Given the description of an element on the screen output the (x, y) to click on. 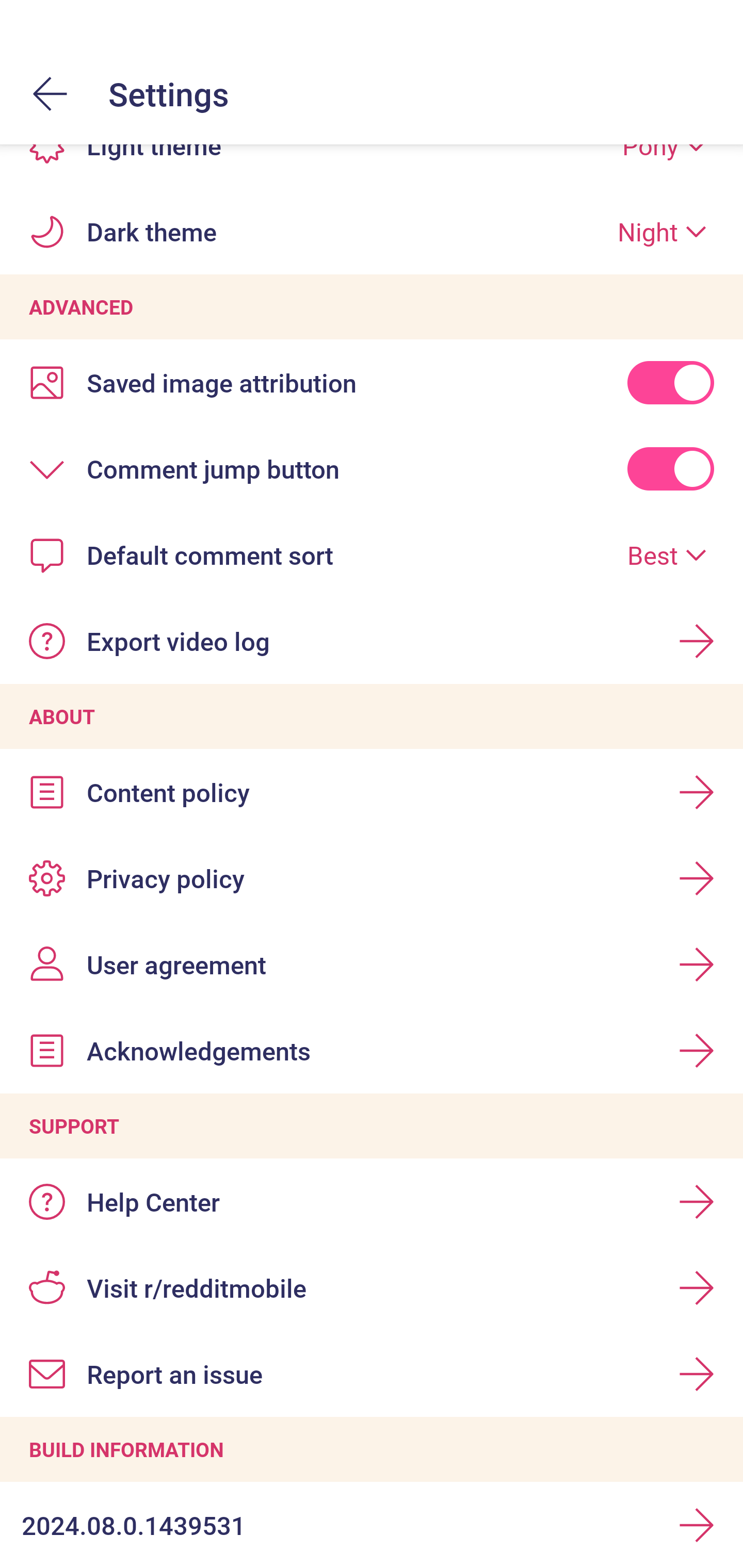
Navigate up (50, 93)
Dark theme Night (371, 231)
Saved image attribution (371, 382)
Comment jump button (371, 468)
Default comment sort Best (371, 554)
Export video log (371, 641)
Content policy (371, 792)
Privacy policy (371, 878)
User agreement (371, 964)
Acknowledgements (371, 1050)
Help Center (371, 1201)
Visit r/redditmobile (371, 1287)
Report an issue (371, 1374)
2024.08.0.1439531 (371, 1524)
